Given the description of an element on the screen output the (x, y) to click on. 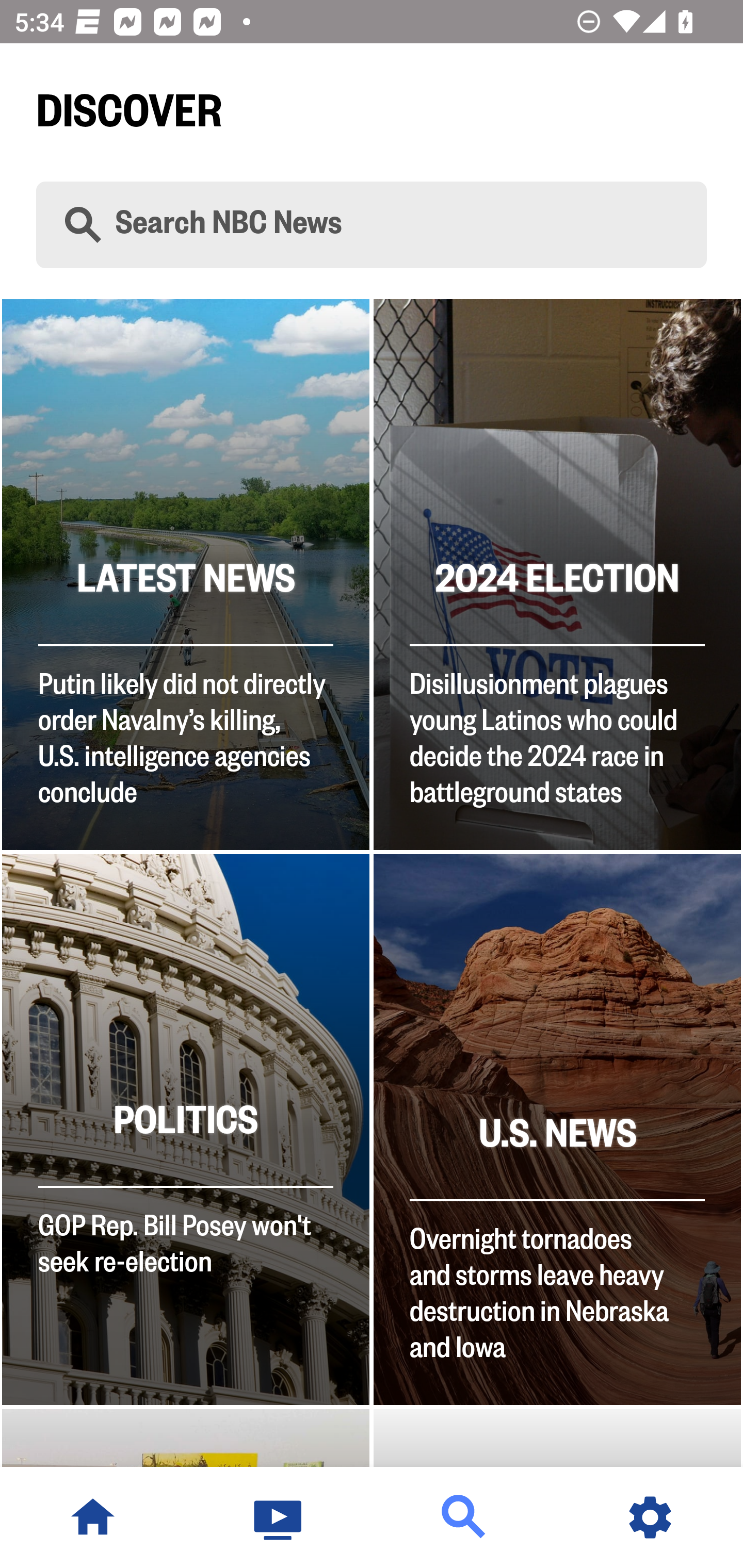
NBC News Home (92, 1517)
Watch (278, 1517)
Settings (650, 1517)
